Given the description of an element on the screen output the (x, y) to click on. 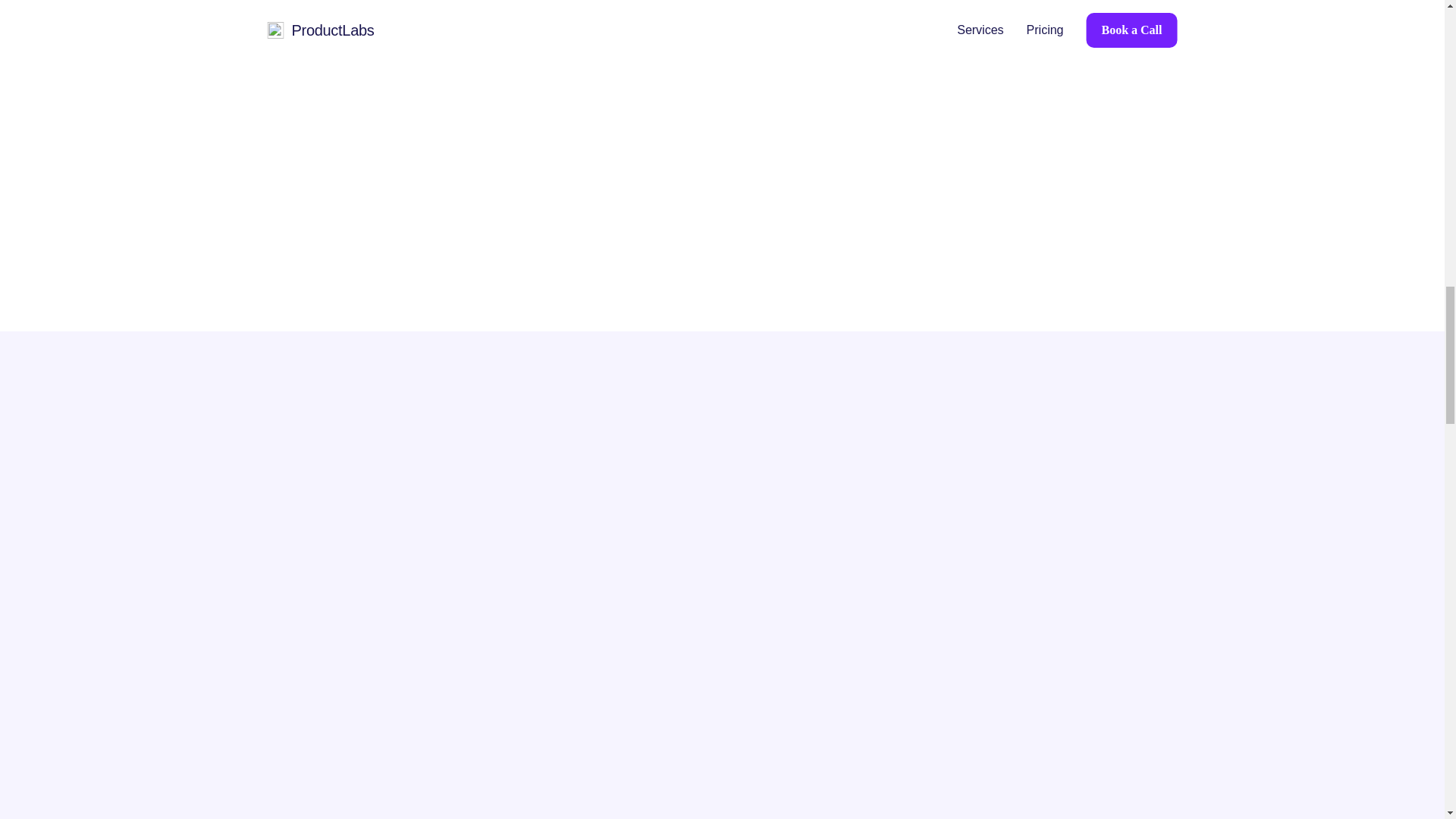
Pricing (880, 547)
FAQ (1142, 547)
Book a Call (1016, 547)
